Given the description of an element on the screen output the (x, y) to click on. 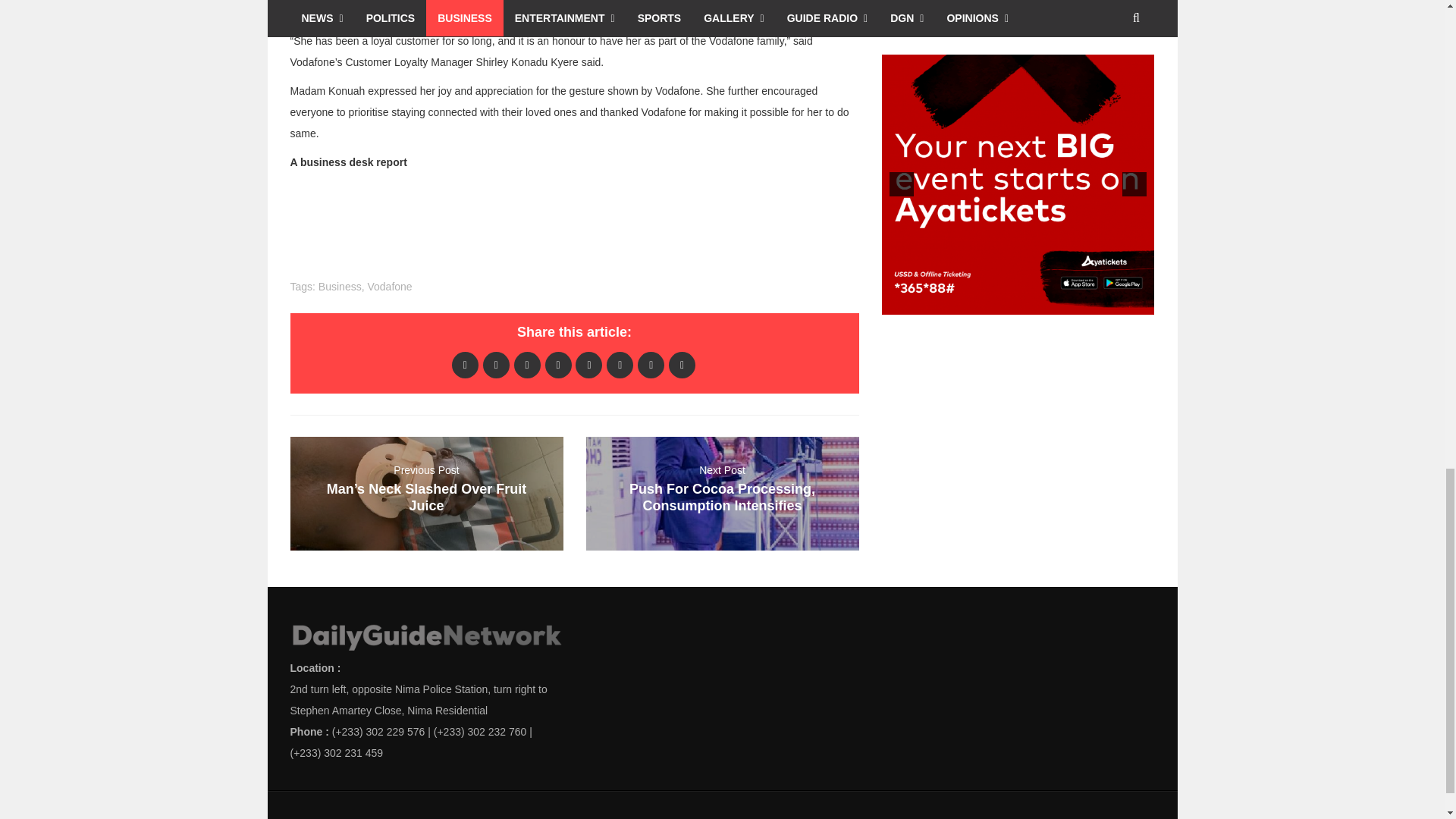
Advertisement (994, 13)
